Given the description of an element on the screen output the (x, y) to click on. 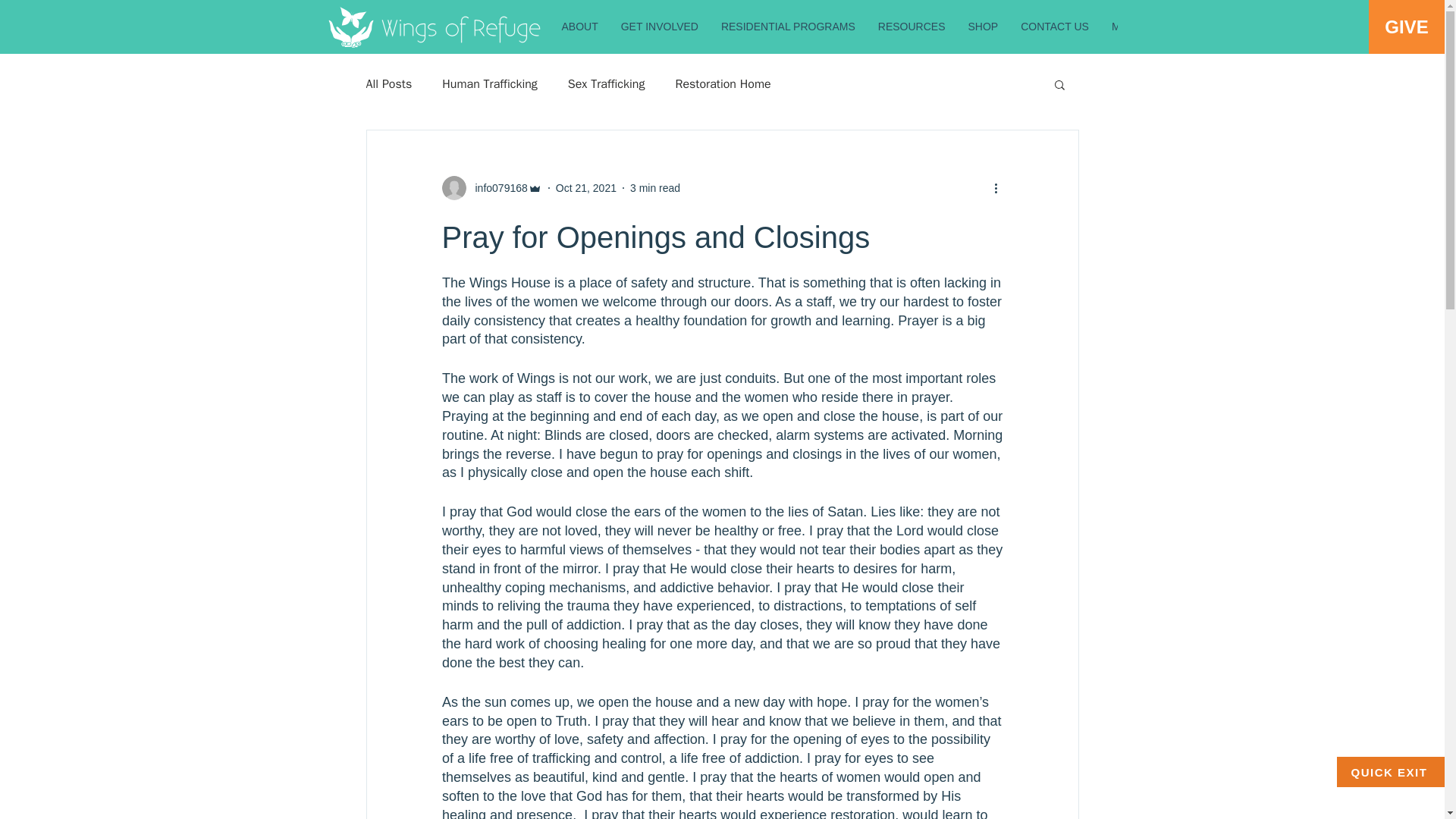
All Posts (388, 83)
info079168 (496, 188)
Sex Trafficking (606, 83)
3 min read (654, 187)
CONTACT US (1054, 31)
Human Trafficking (489, 83)
Oct 21, 2021 (585, 187)
Restoration Home (722, 83)
info079168 (491, 187)
